Given the description of an element on the screen output the (x, y) to click on. 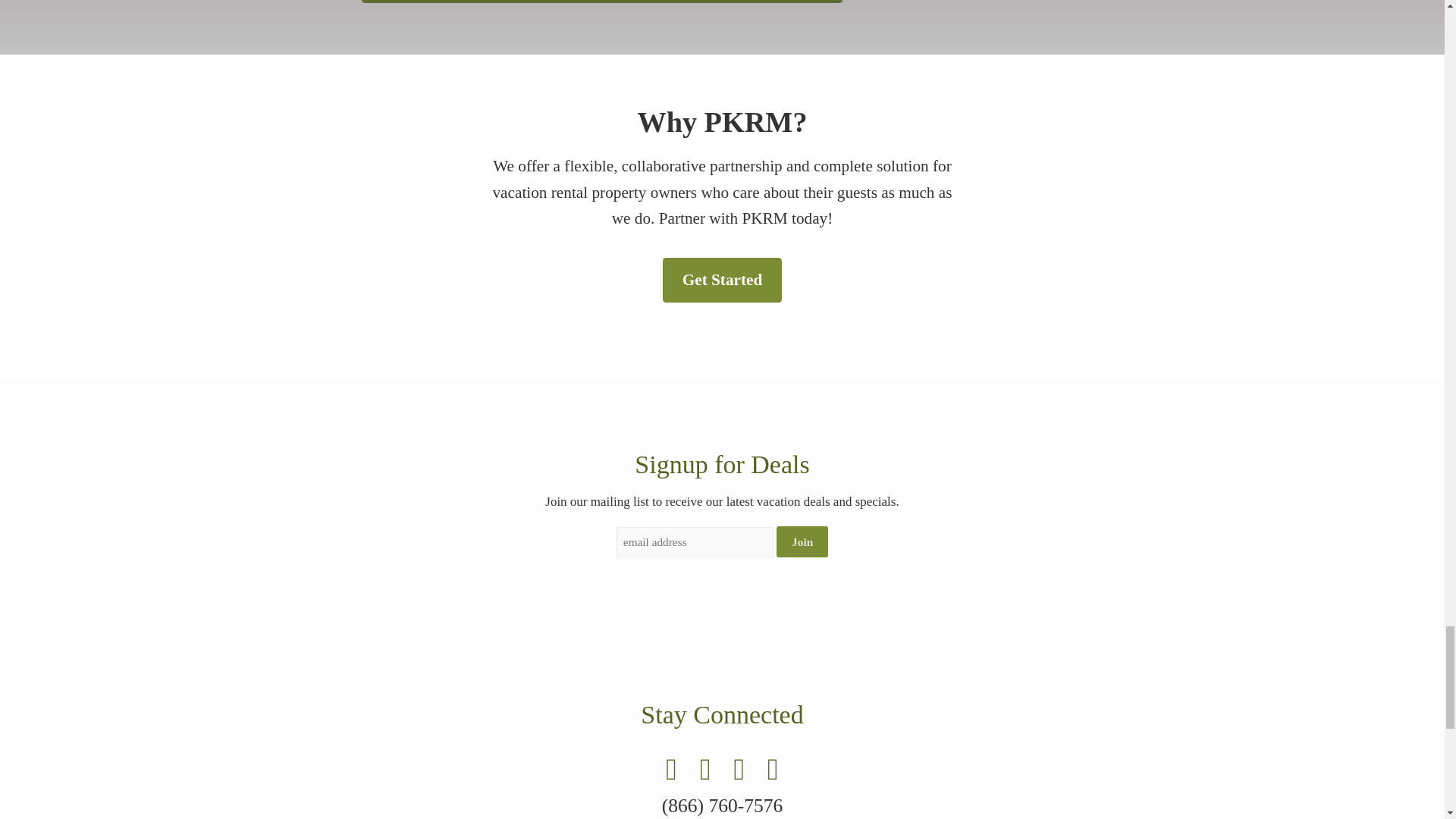
Get Started (721, 280)
Join (802, 541)
Join (802, 541)
